Given the description of an element on the screen output the (x, y) to click on. 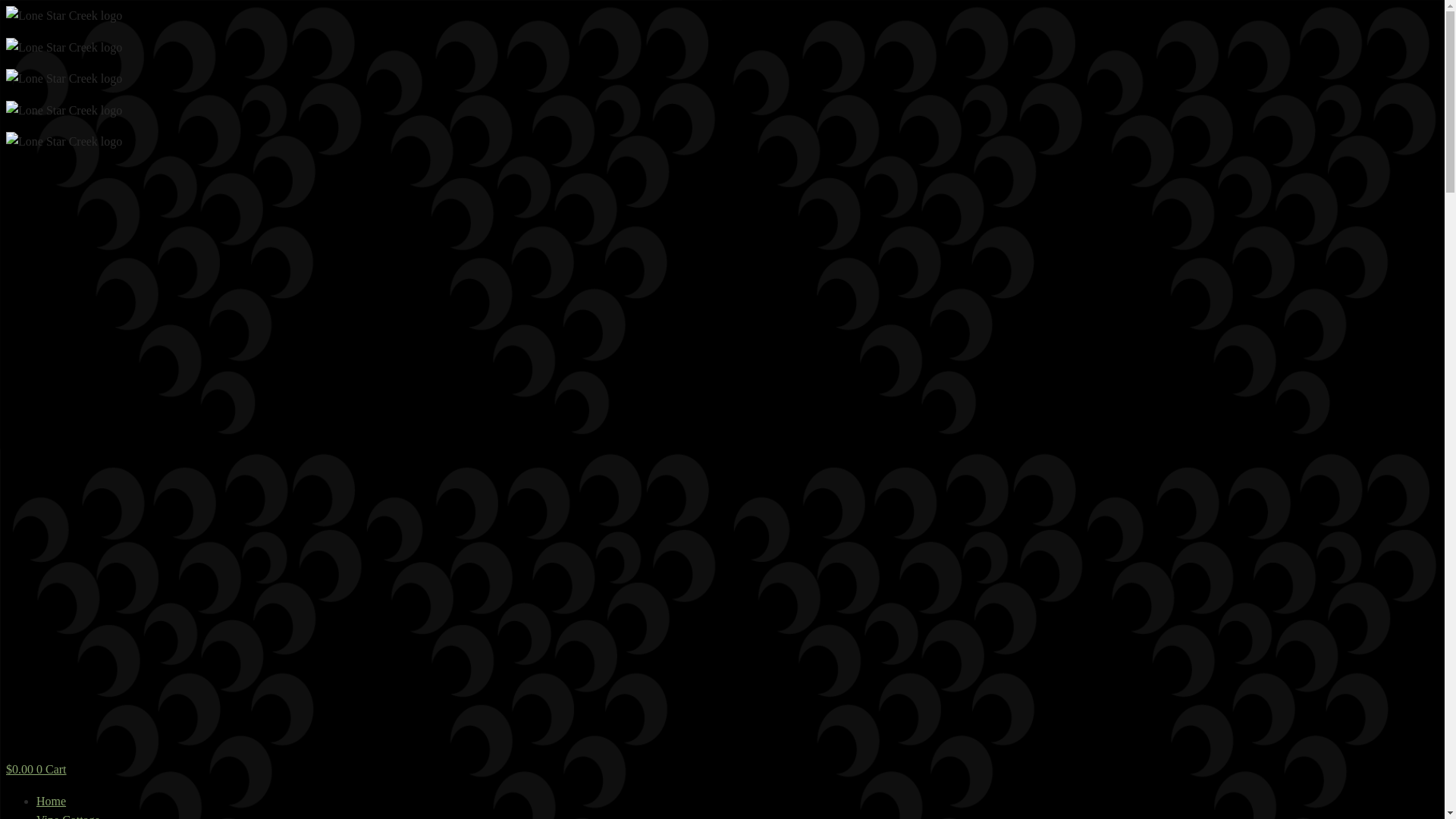
Skip to content Element type: text (5, 5)
$0.00 0 Cart Element type: text (36, 768)
Home Element type: text (50, 800)
